Given the description of an element on the screen output the (x, y) to click on. 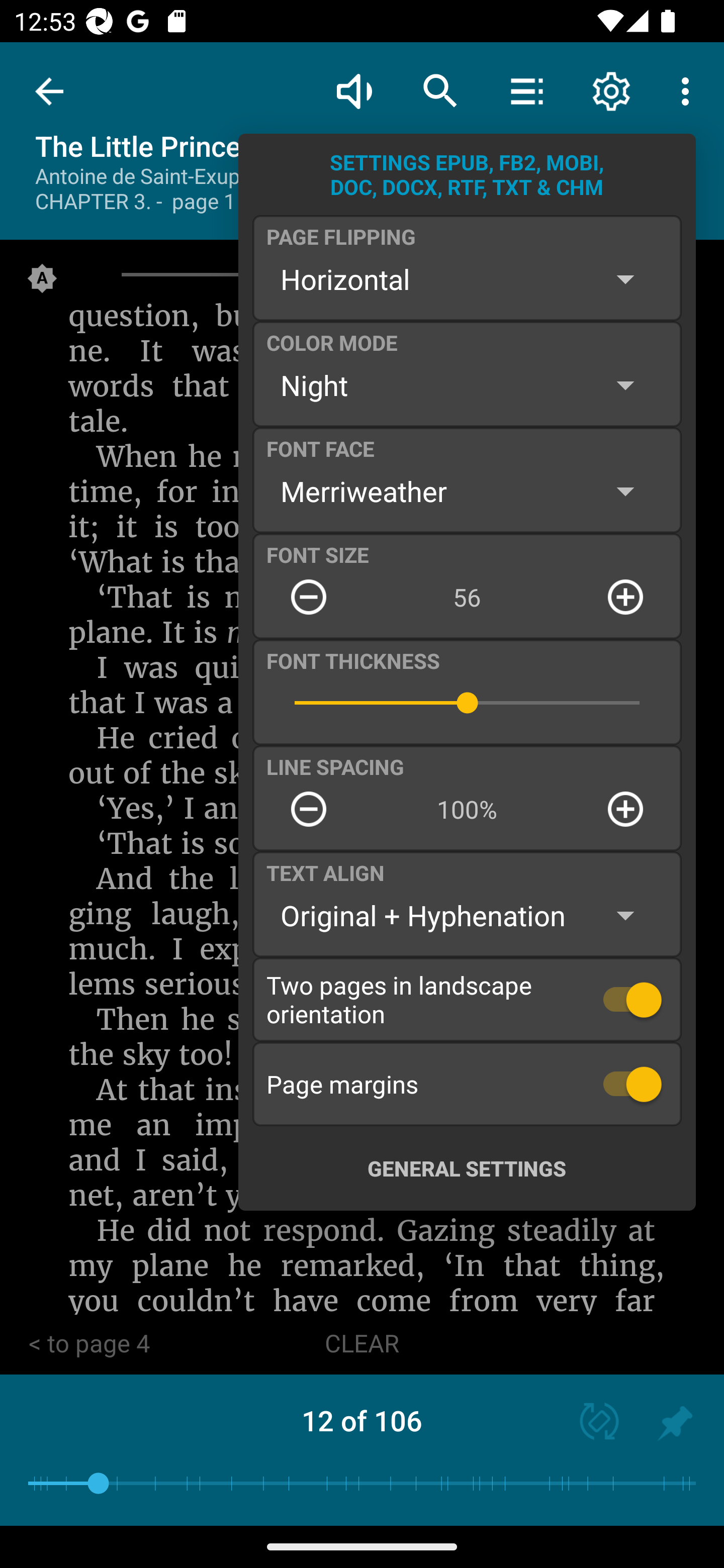
Horizontal (466, 278)
Night (466, 384)
Merriweather (466, 490)
Original + Hyphenation (466, 915)
Two pages in landscape orientation (467, 999)
Page margins (467, 1083)
GENERAL SETTINGS (466, 1167)
